Given the description of an element on the screen output the (x, y) to click on. 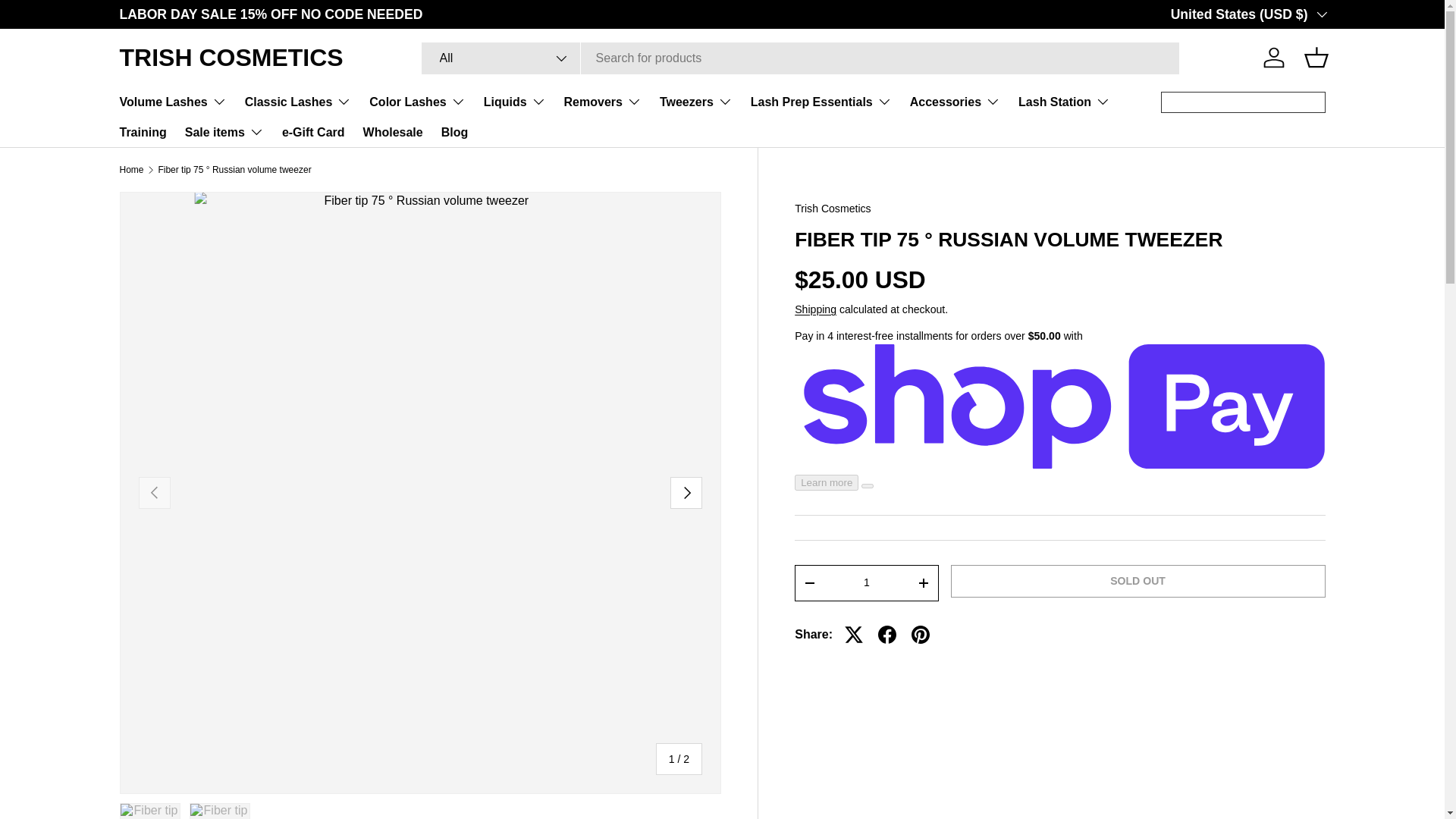
Tweet on X (853, 634)
All (501, 58)
Log in (1273, 57)
SKIP TO CONTENT (68, 21)
Volume Lashes (173, 101)
Color Lashes (416, 101)
Pin on Pinterest (920, 634)
TRISH COSMETICS (231, 58)
1 (866, 582)
Liquids (514, 101)
